Given the description of an element on the screen output the (x, y) to click on. 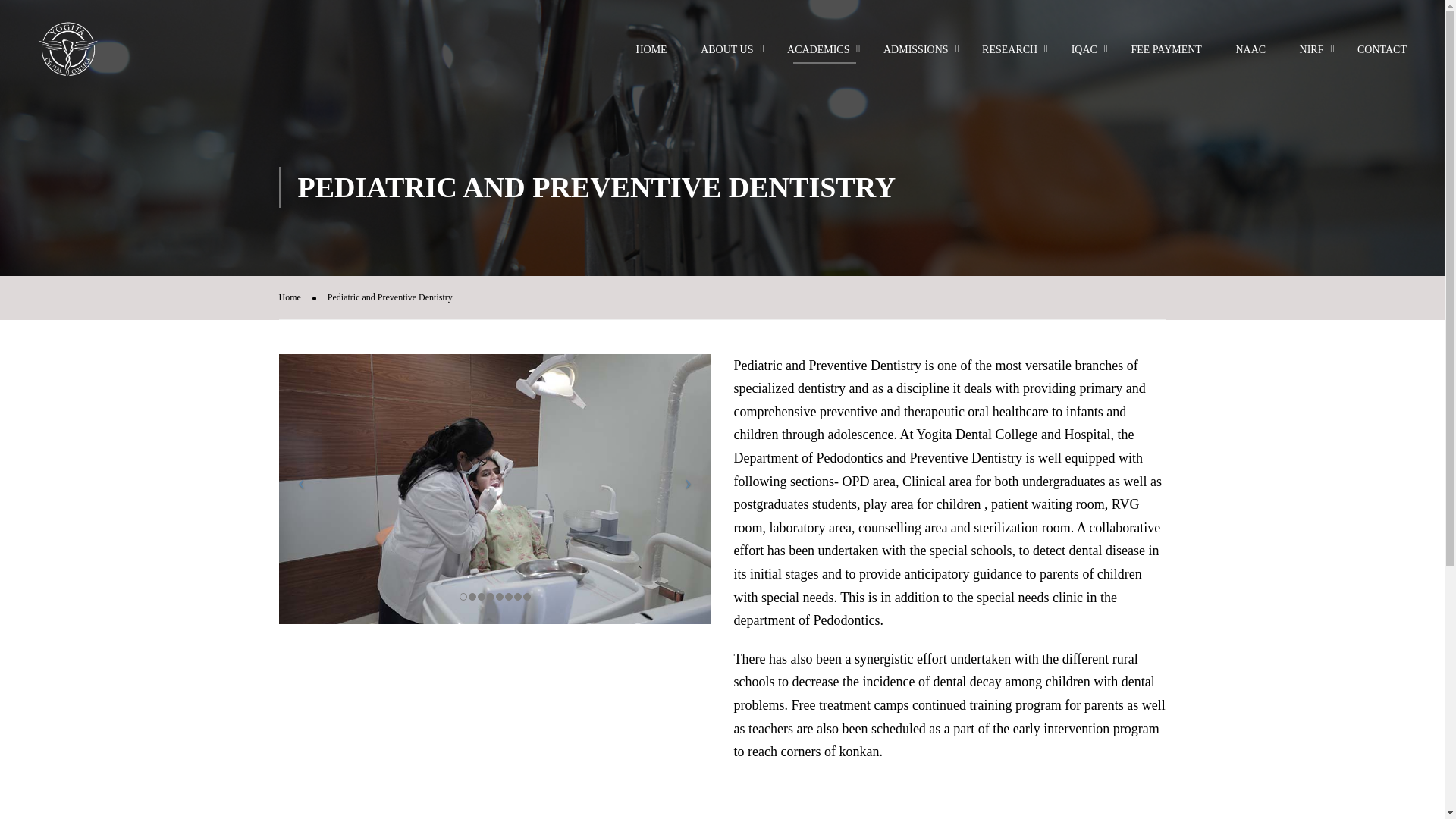
Home (297, 297)
Pediatric and Preventive Dentistry (389, 296)
